Given the description of an element on the screen output the (x, y) to click on. 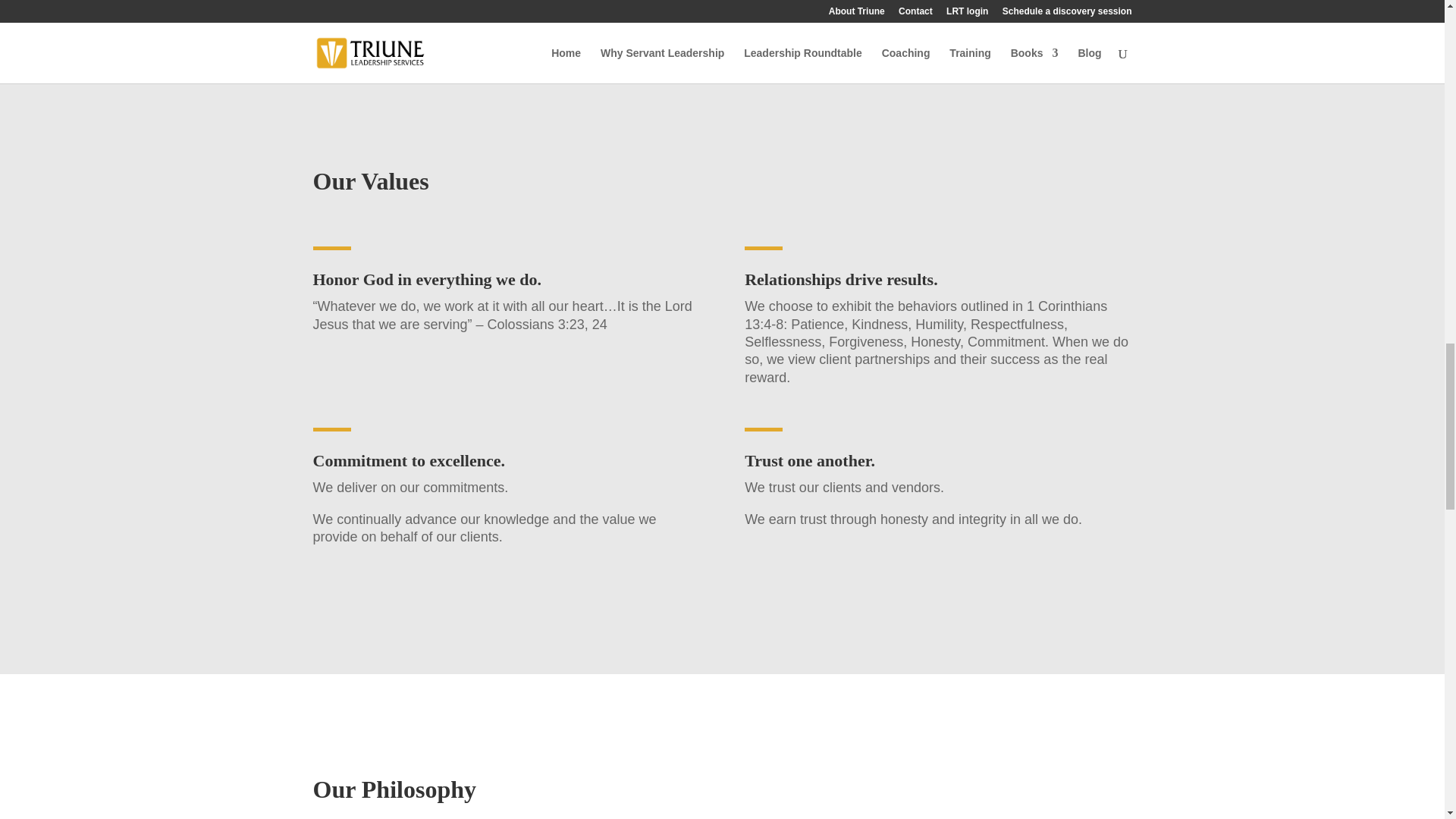
Meet our growing team (721, 2)
